Given the description of an element on the screen output the (x, y) to click on. 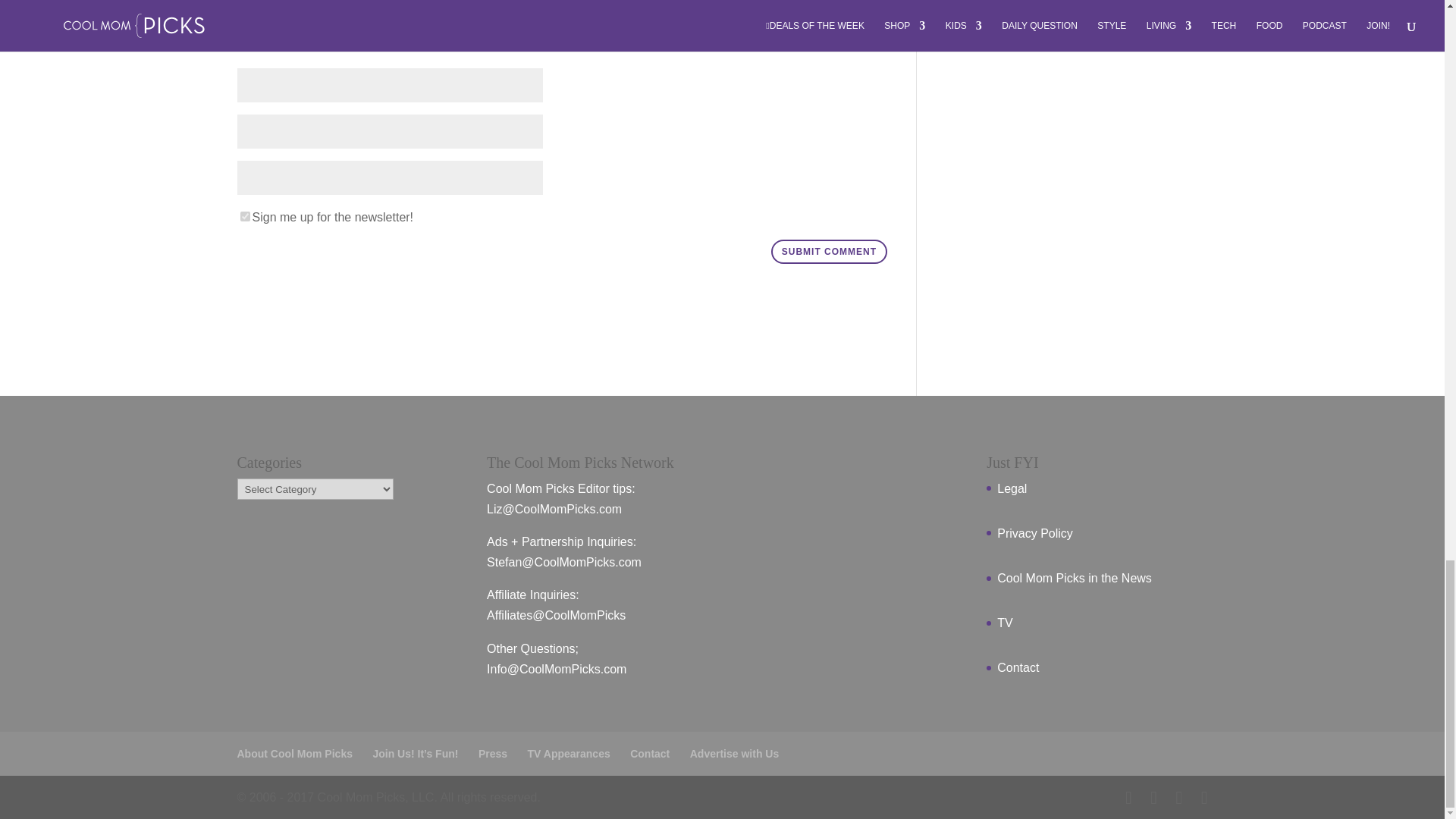
Submit Comment (828, 251)
1 (244, 216)
About Cool Mom Picks (293, 753)
